Given the description of an element on the screen output the (x, y) to click on. 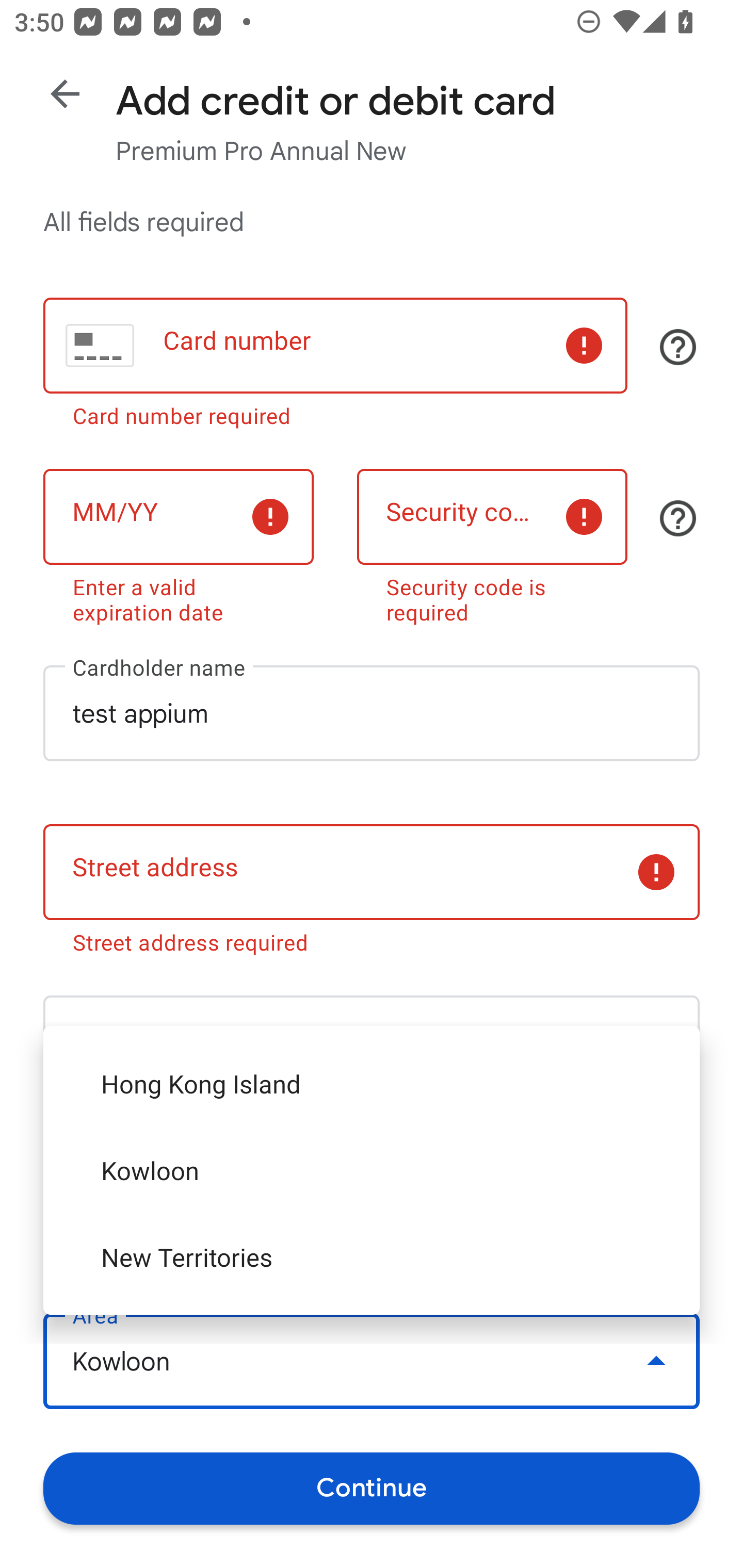
Back (64, 93)
Card number (335, 345)
Button, shows cards that are accepted for payment (677, 347)
Expiration date, 2 digit month, 2 digit year (178, 516)
Security code (492, 516)
Security code help (677, 518)
test appium (371, 713)
Street address (371, 872)
Apt, suite, etc. (optional) (371, 1043)
District (371, 1201)
Show dropdown menu (655, 1201)
Kowloon (371, 1361)
Show dropdown menu (655, 1360)
Continue (371, 1487)
